Given the description of an element on the screen output the (x, y) to click on. 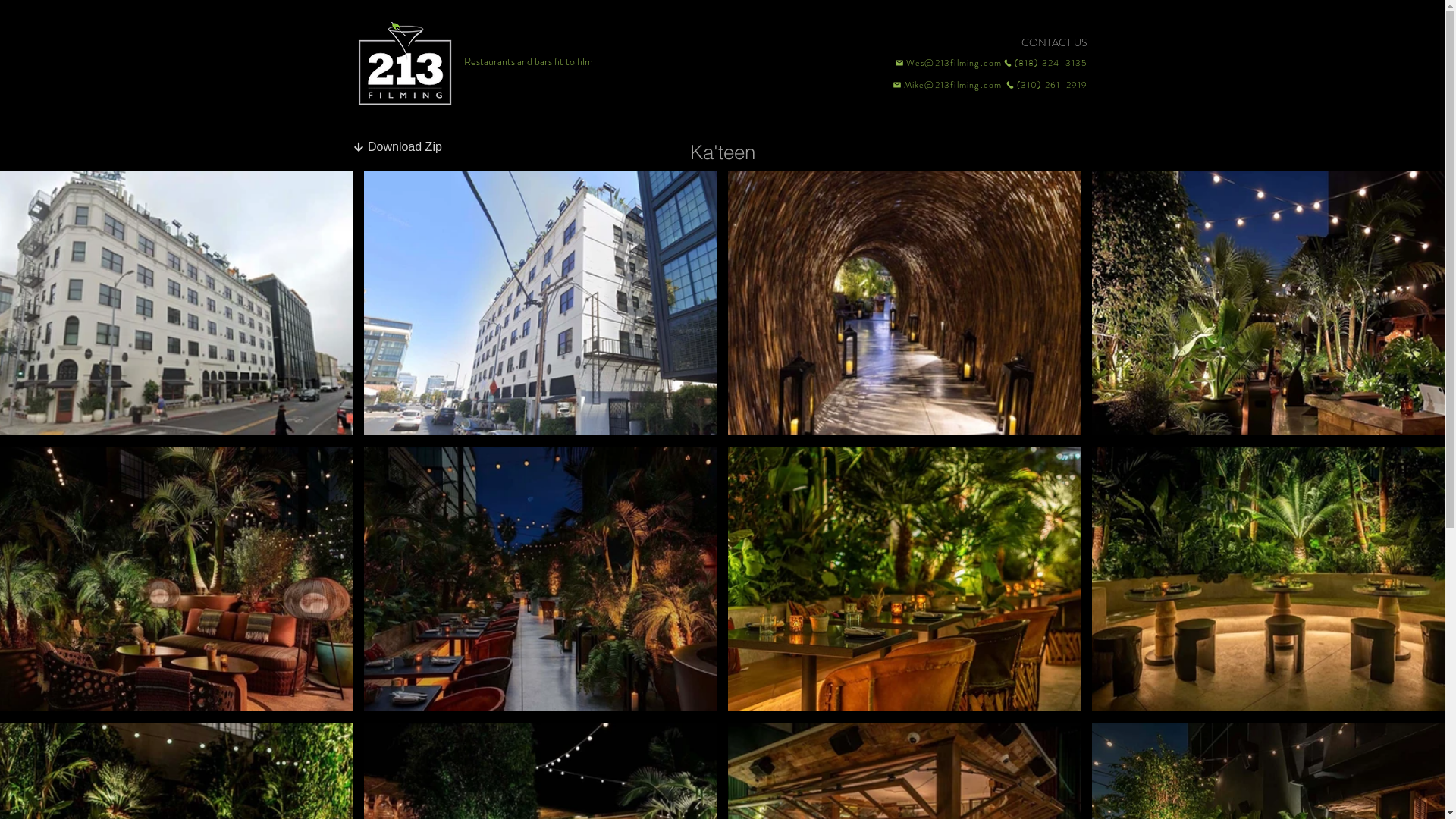
(818) 324-3135 Element type: text (1044, 62)
Mike@213filming.com Element type: text (943, 84)
(310) 261-2919 Element type: text (1044, 84)
213 Filming Element type: hover (404, 64)
Wes@213filming.com Element type: text (947, 62)
